Given the description of an element on the screen output the (x, y) to click on. 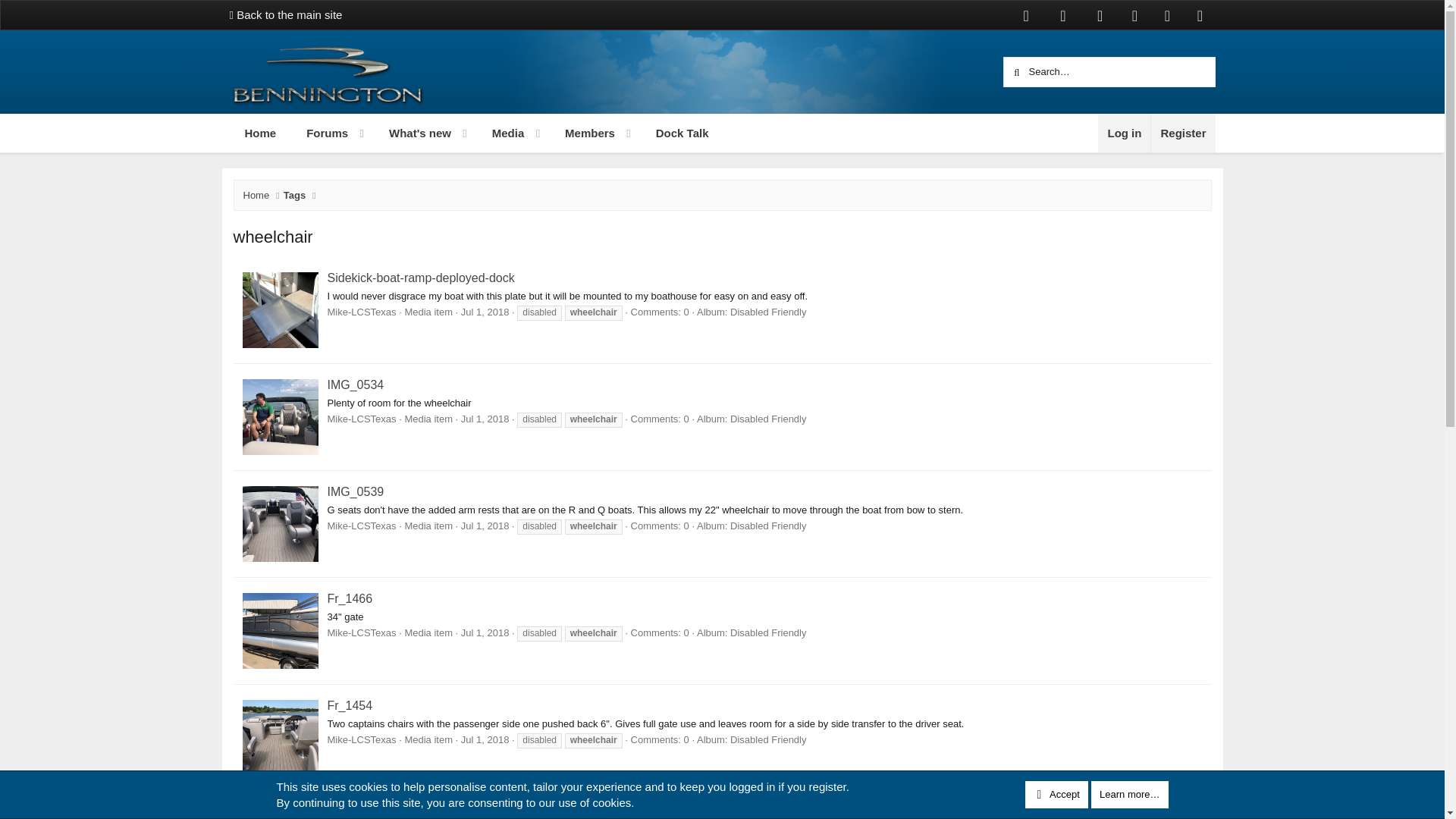
Register (1182, 132)
Jul 1, 2018 at 12:17 AM (485, 419)
Jul 1, 2018 at 12:20 AM (485, 311)
youtube (1100, 14)
Log in (1123, 132)
Jul 1, 2018 at 12:16 AM (485, 525)
Dock Talk (681, 132)
Media (501, 132)
Back to the main site (285, 14)
RSS (1199, 14)
Members (582, 132)
Jul 1, 2018 at 12:13 AM (485, 632)
Jul 1, 2018 at 12:12 AM (485, 739)
Facebook (475, 132)
